Given the description of an element on the screen output the (x, y) to click on. 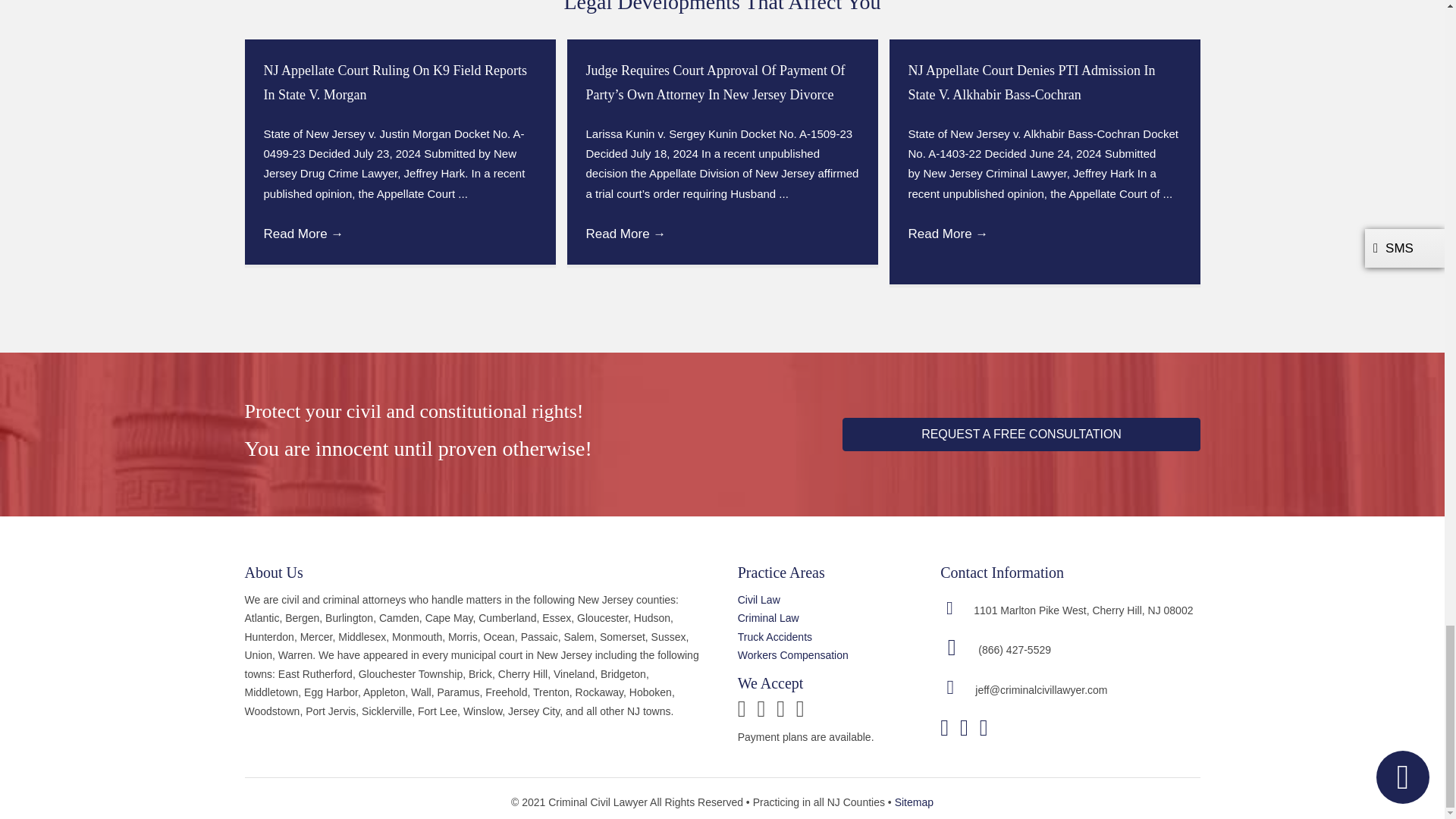
Read More (625, 233)
Read More (303, 233)
Click Here (1021, 434)
Read More (948, 233)
